Given the description of an element on the screen output the (x, y) to click on. 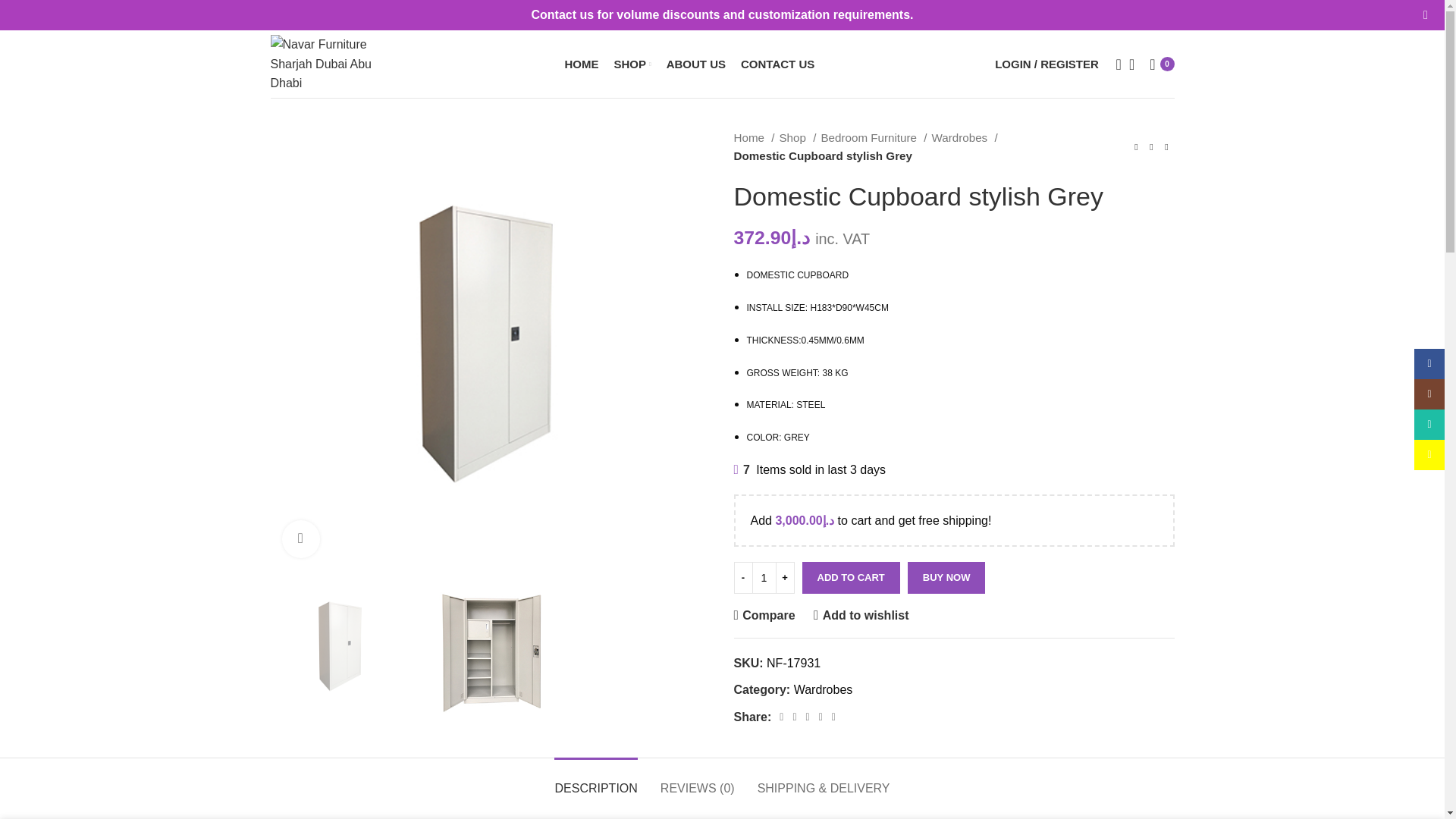
HOME (581, 63)
SHOP (631, 63)
